Given the description of an element on the screen output the (x, y) to click on. 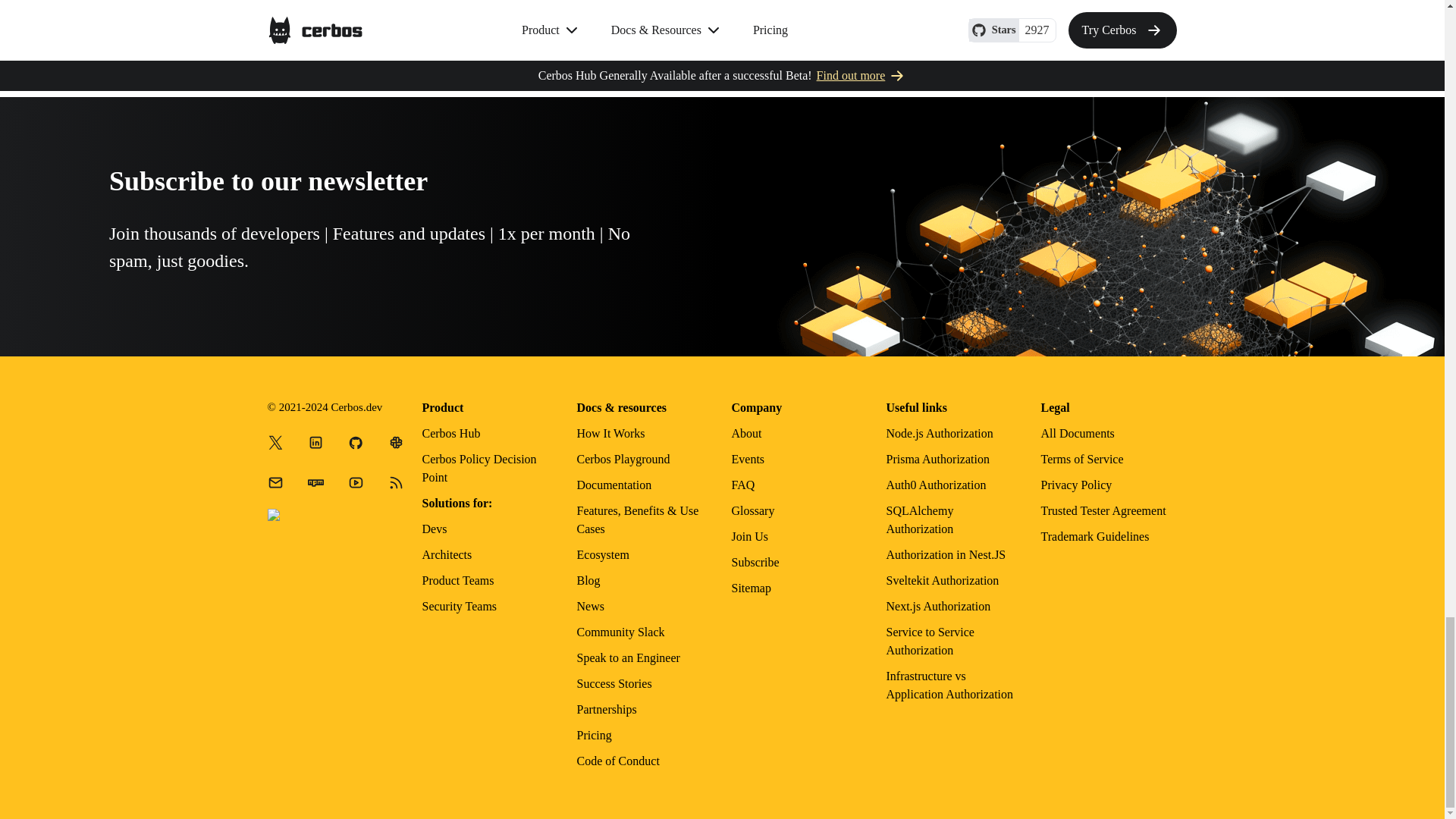
Architects (446, 554)
Cerbos Playground (622, 459)
How It Works (610, 432)
Devs (434, 528)
Product Teams (457, 580)
Cerbos Policy Decision Point (478, 468)
Cerbos Hub (451, 432)
